Given the description of an element on the screen output the (x, y) to click on. 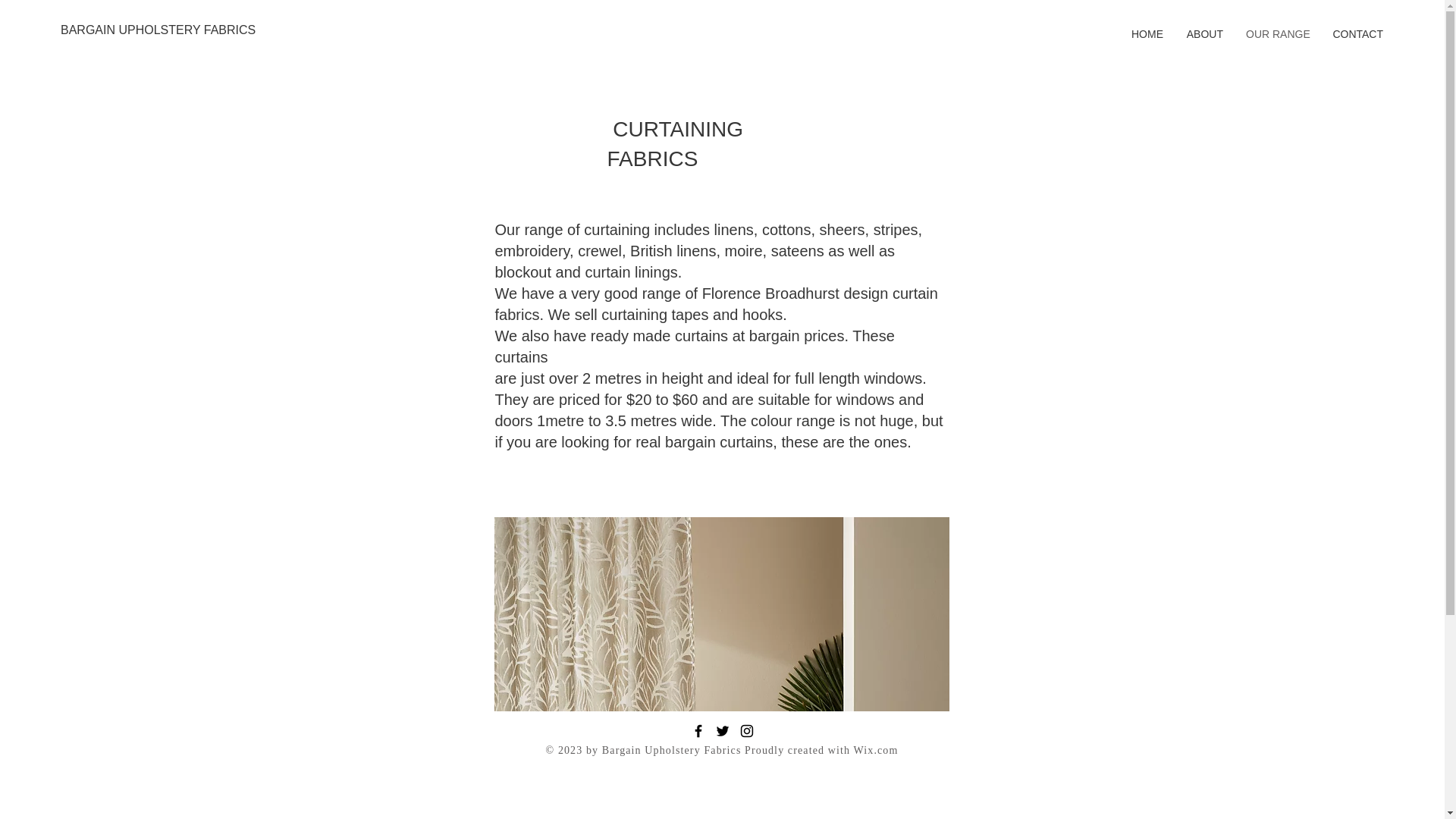
OUR RANGE (1277, 34)
ABOUT (1204, 34)
HOME (1146, 34)
Wix.com (875, 749)
CONTACT (1357, 34)
BARGAIN UPHOLSTERY FABRICS (158, 30)
